Given the description of an element on the screen output the (x, y) to click on. 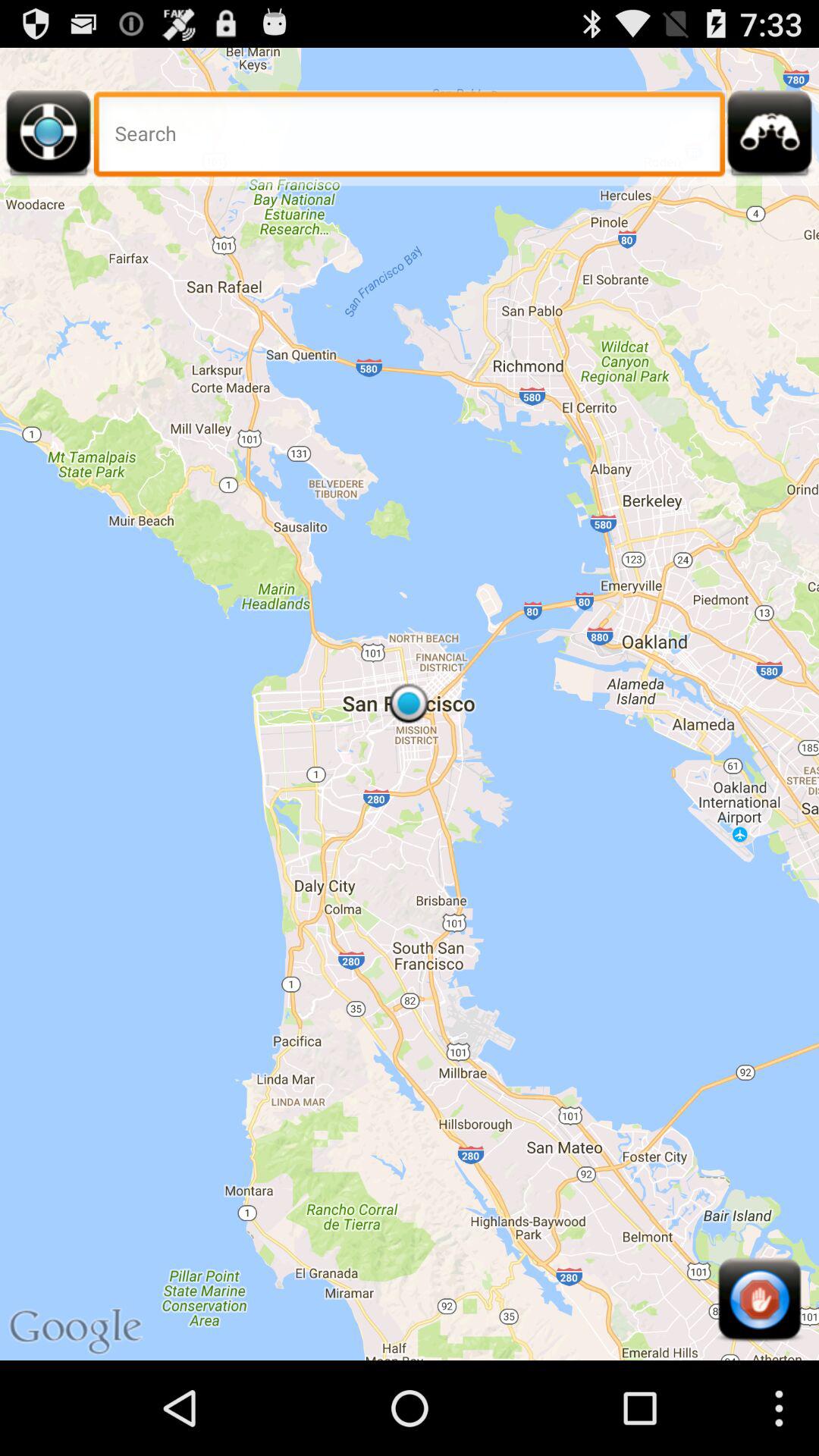
choose the item at the center (409, 703)
